Given the description of an element on the screen output the (x, y) to click on. 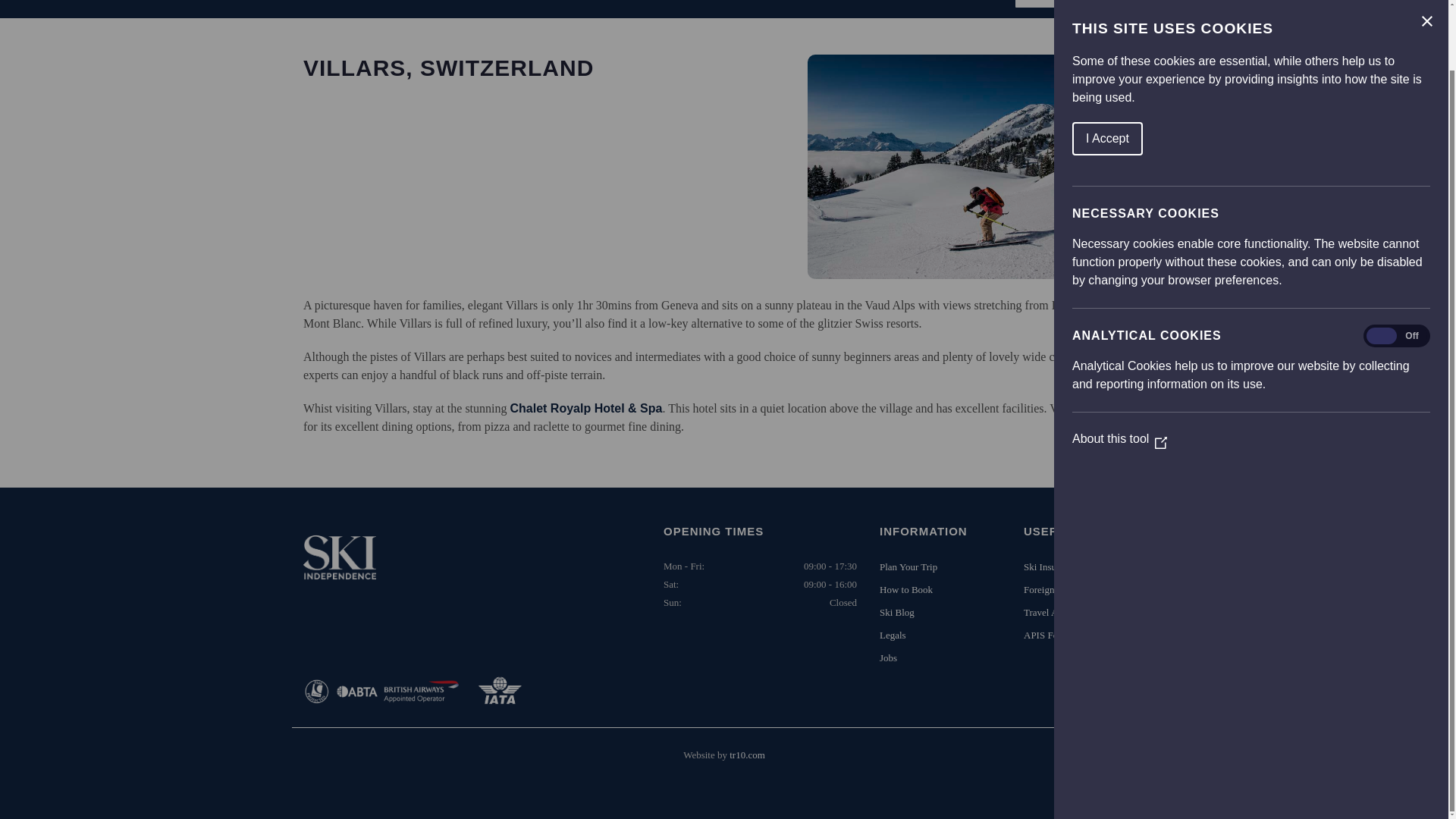
I Accept (1377, 68)
